Given the description of an element on the screen output the (x, y) to click on. 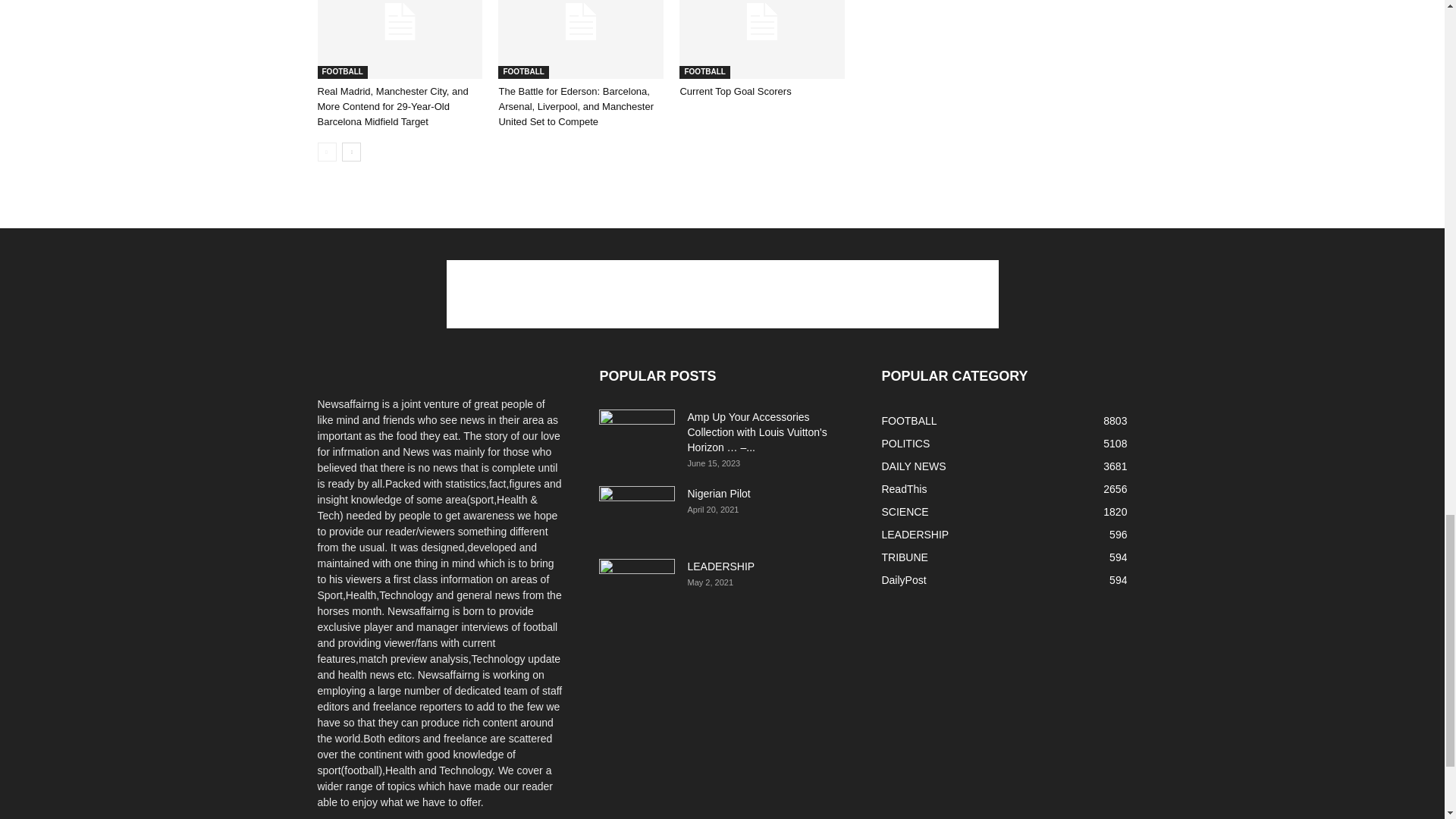
Current Top Goal Scorers (761, 39)
Current Top Goal Scorers (734, 91)
